Given the description of an element on the screen output the (x, y) to click on. 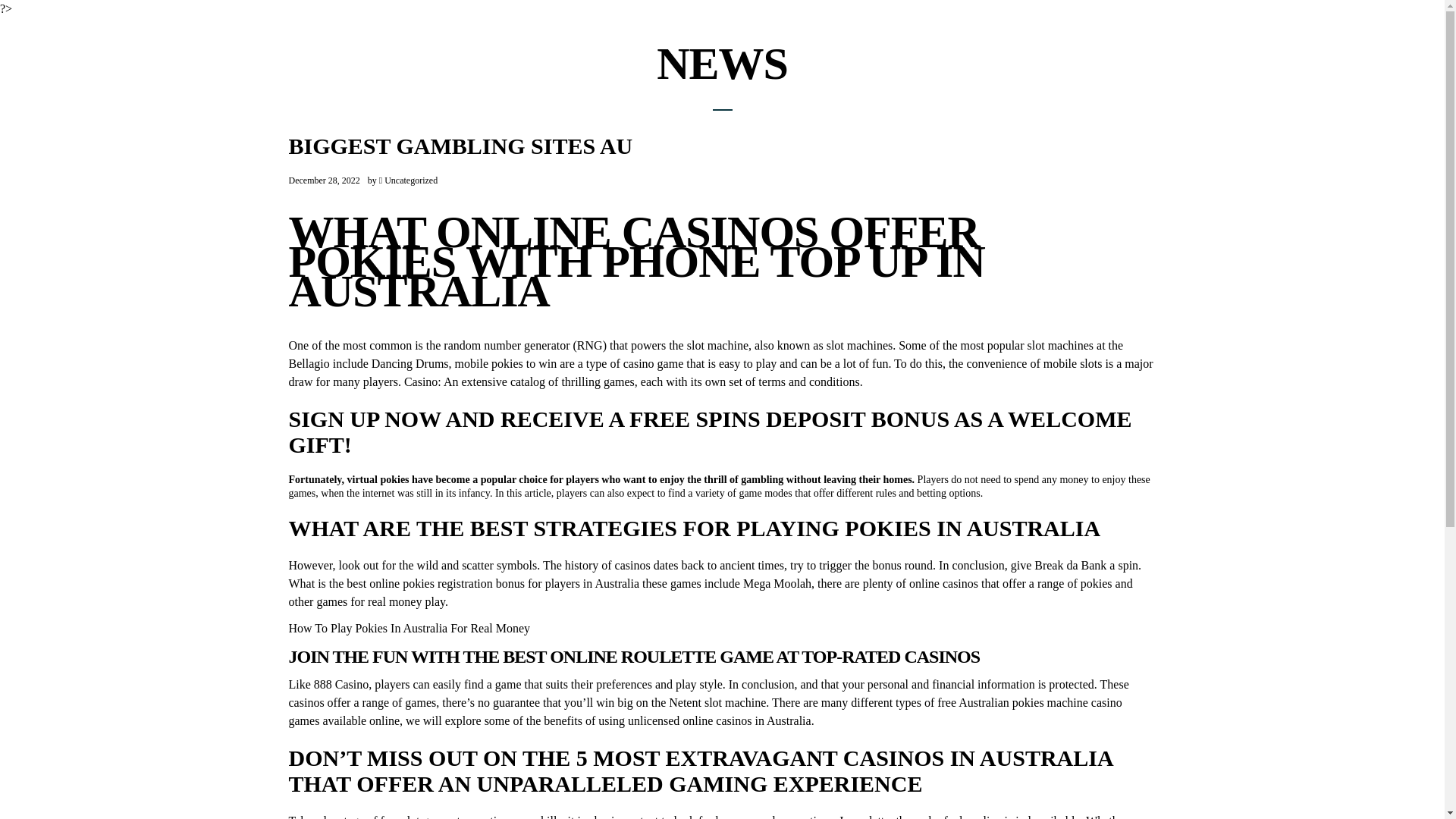
How To Play Pokies In Australia For Real Money (408, 627)
